Given the description of an element on the screen output the (x, y) to click on. 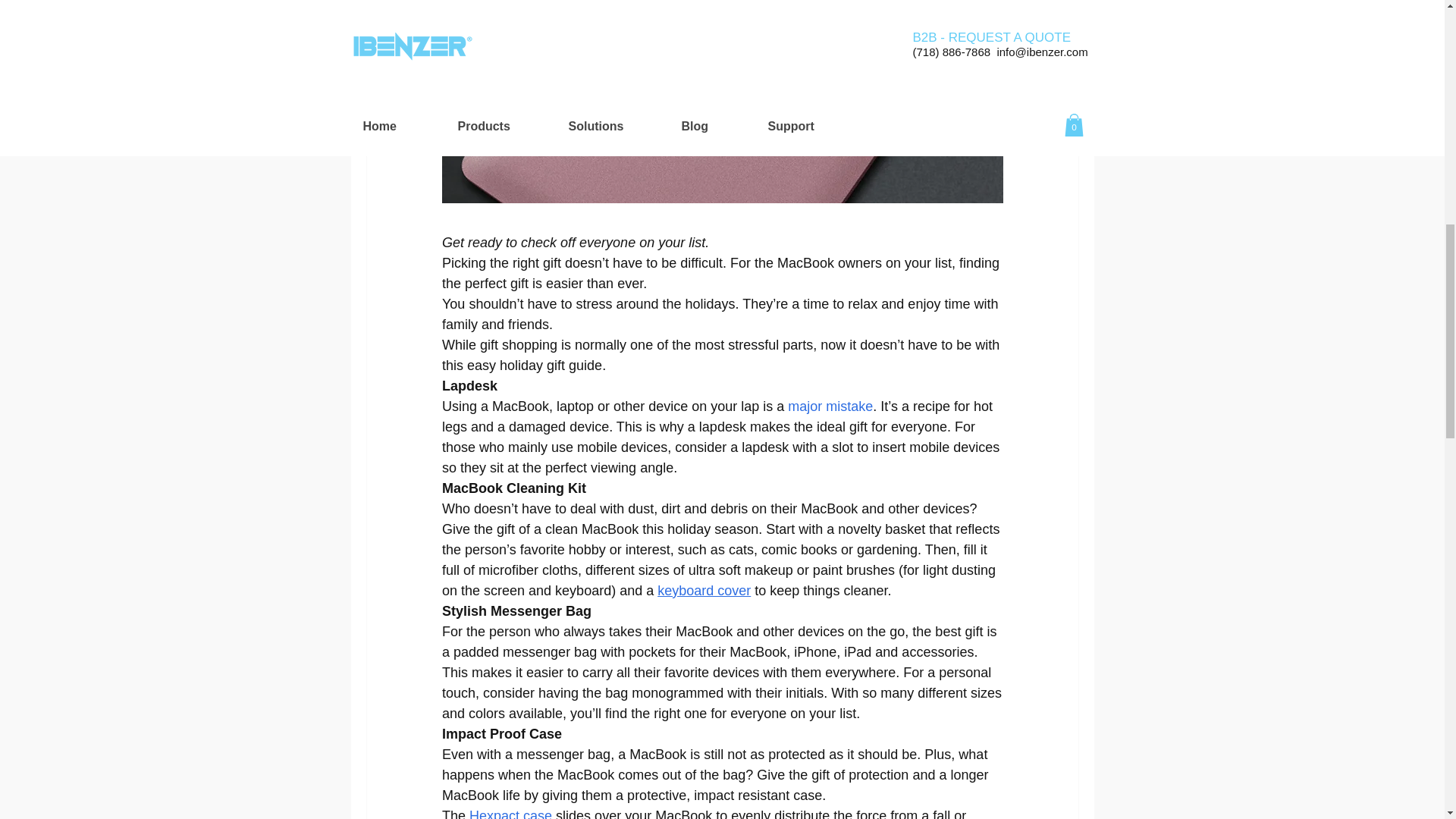
Hexpact case (509, 813)
keyboard cover (704, 590)
major mistake (829, 406)
